Given the description of an element on the screen output the (x, y) to click on. 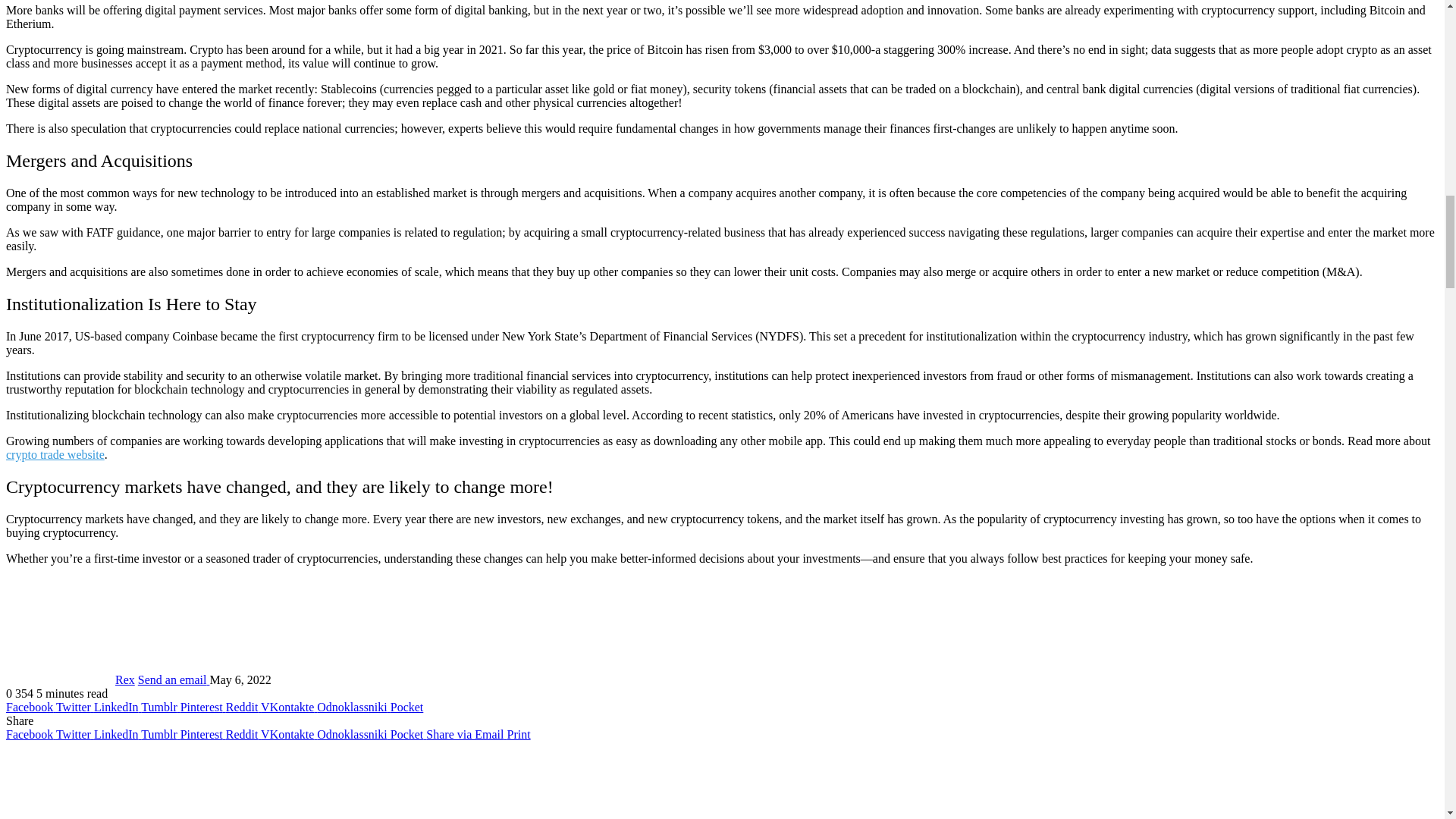
Facebook (30, 707)
Twitter (75, 707)
Rex (125, 679)
Send an email (173, 679)
